Given the description of an element on the screen output the (x, y) to click on. 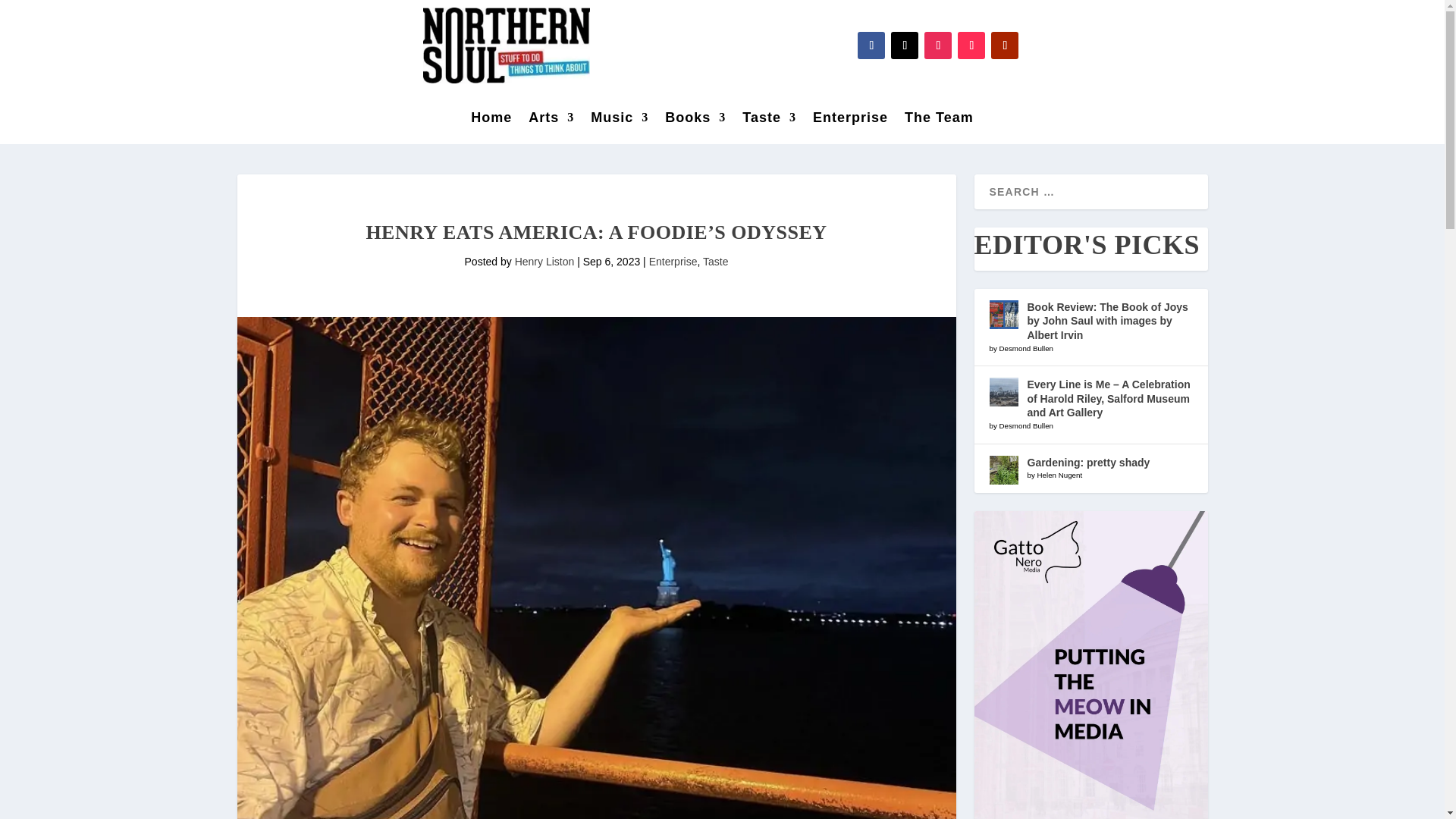
Arts (550, 120)
Enterprise (673, 261)
Taste (769, 120)
Follow on TikTok (971, 44)
Home (491, 120)
Music (619, 120)
Henry Liston (545, 261)
Follow on Instagram (938, 44)
Posts by Henry Liston (545, 261)
Follow on Youtube (1004, 44)
